Given the description of an element on the screen output the (x, y) to click on. 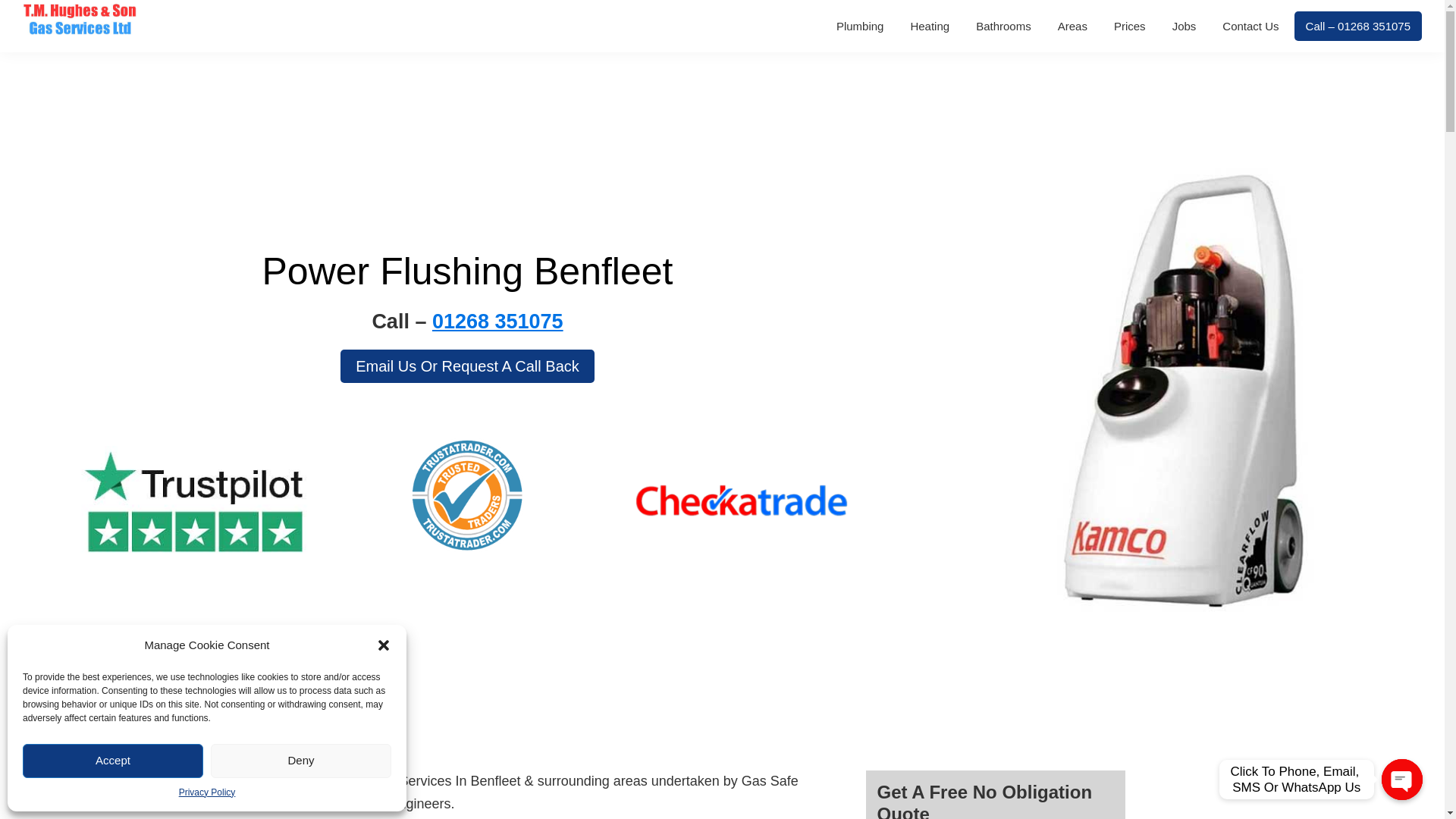
Privacy Policy (207, 792)
Bathrooms (1002, 25)
Accept (113, 759)
Deny (301, 759)
Plumbing (860, 25)
Heating (929, 25)
Areas (1072, 25)
